Given the description of an element on the screen output the (x, y) to click on. 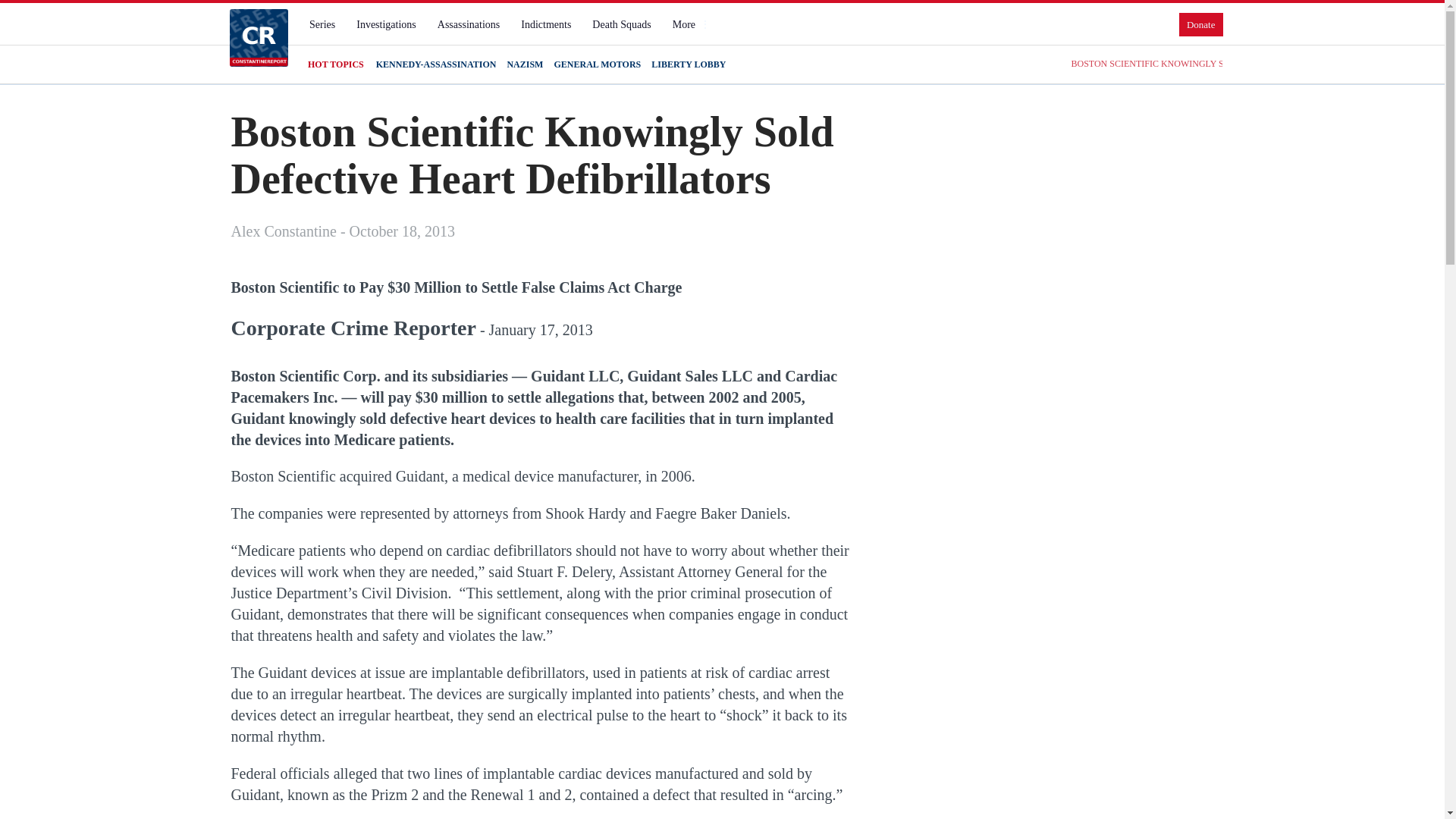
KENNEDY-ASSASSINATION (435, 64)
LIBERTY LOBBY (687, 64)
Assassinations (467, 23)
GENERAL MOTORS (596, 64)
Series (321, 23)
Death Squads (621, 23)
Donate (1201, 24)
NAZISM (524, 64)
Constantine Report (257, 37)
More (690, 24)
